Given the description of an element on the screen output the (x, y) to click on. 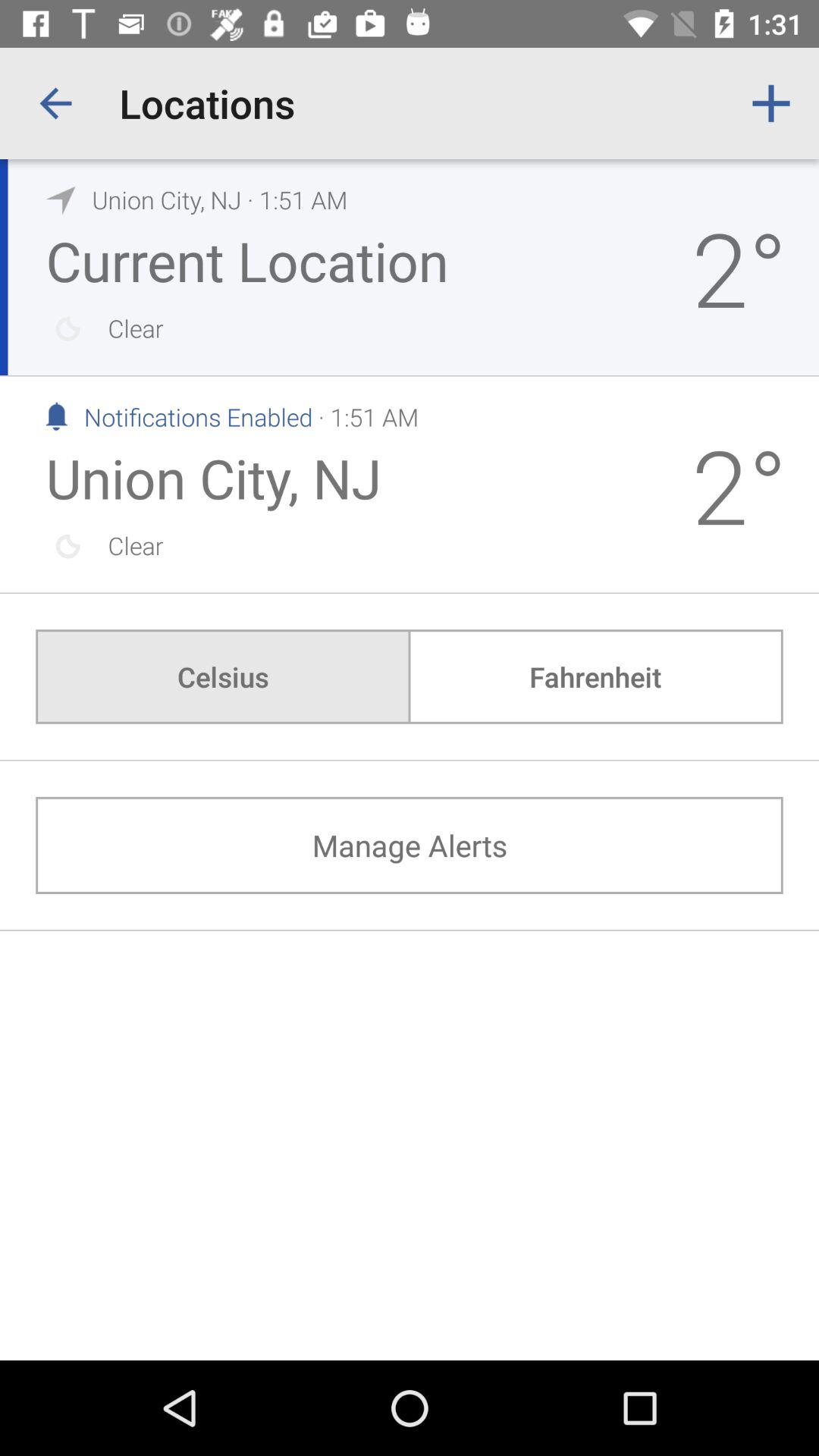
swipe until the fahrenheit icon (595, 676)
